Given the description of an element on the screen output the (x, y) to click on. 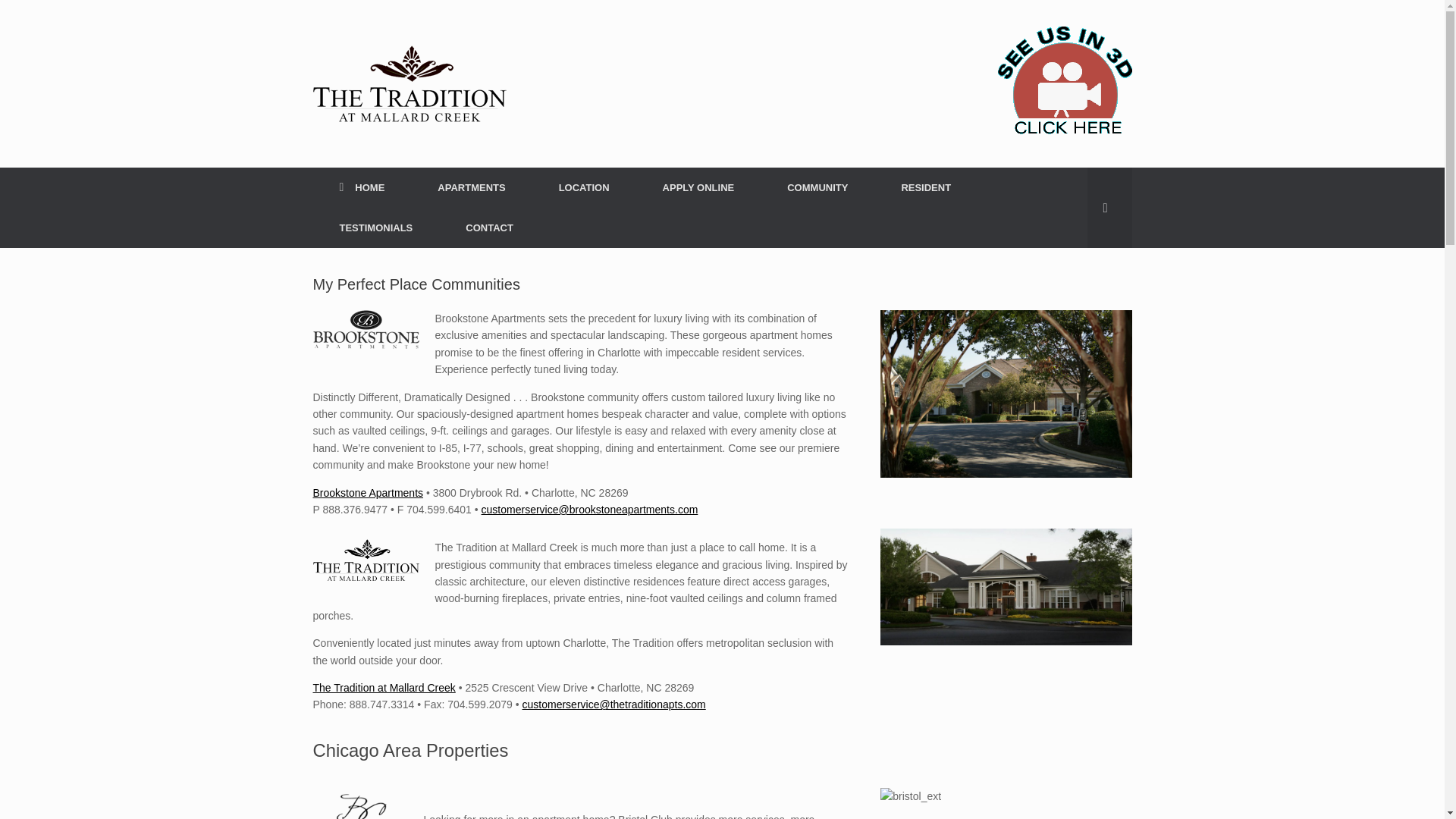
HOME (361, 187)
APARTMENTS (470, 187)
LOCATION (584, 187)
CONTACT (489, 228)
The Tradition at Mallard Creek (383, 687)
RESIDENT (925, 187)
Brookstone Apartments (368, 492)
TESTIMONIALS (376, 228)
APPLY ONLINE (698, 187)
The Tradition Apartments (409, 83)
